Given the description of an element on the screen output the (x, y) to click on. 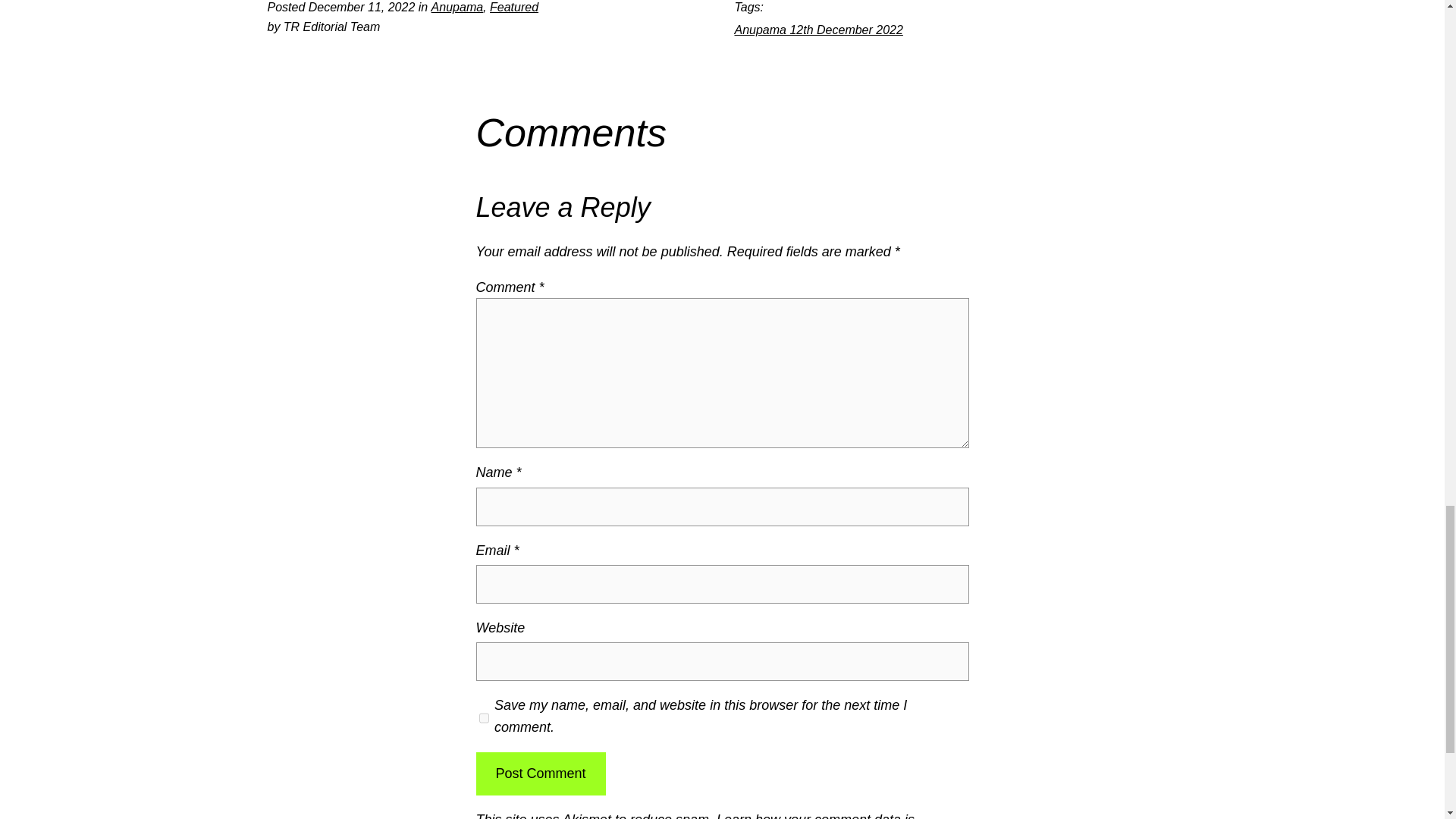
Anupama 12th December 2022 (817, 29)
Post Comment (540, 773)
Anupama (456, 6)
Learn how your comment data is processed (695, 815)
Post Comment (540, 773)
Featured (513, 6)
